Given the description of an element on the screen output the (x, y) to click on. 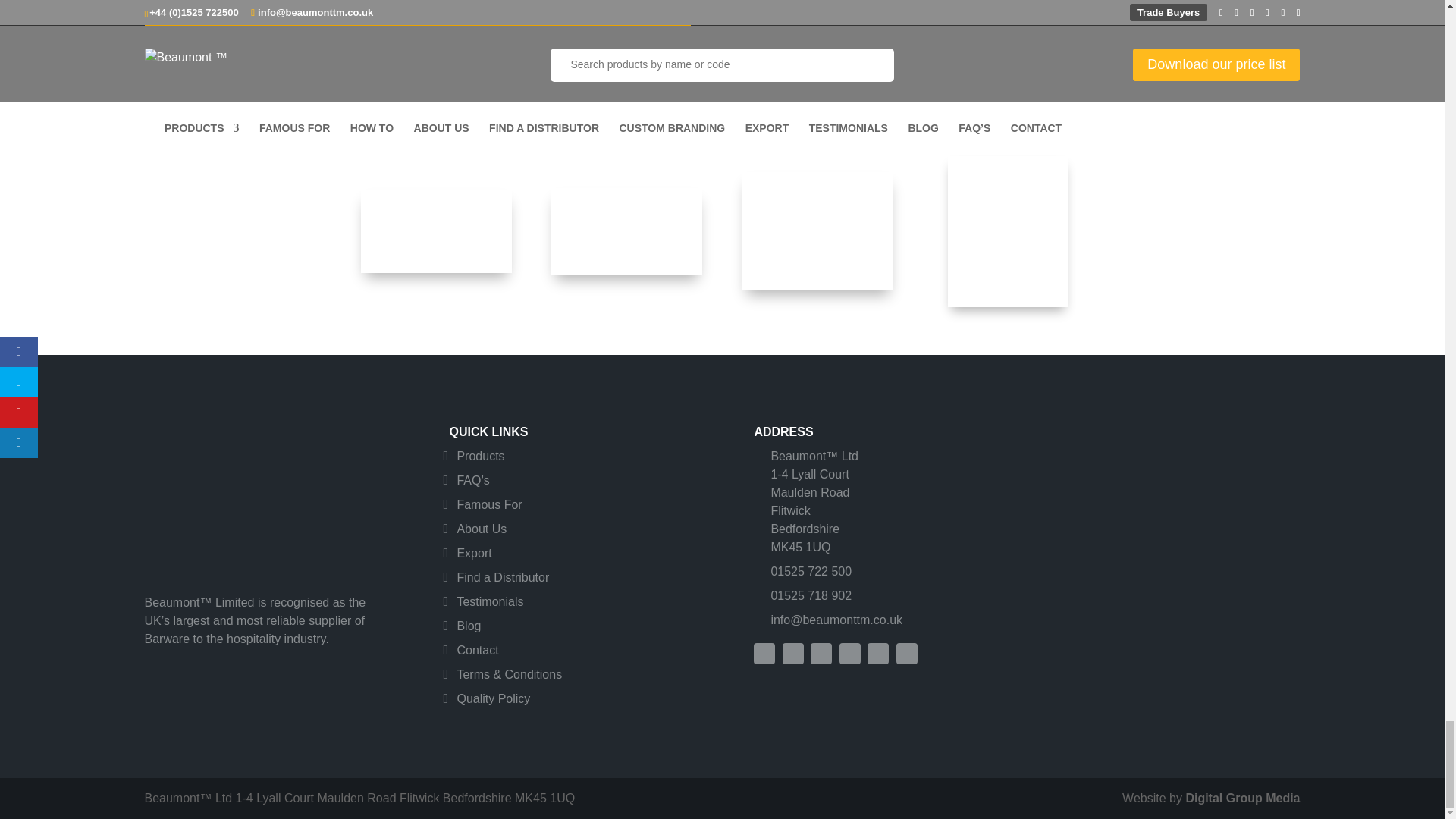
Download (417, 13)
